Given the description of an element on the screen output the (x, y) to click on. 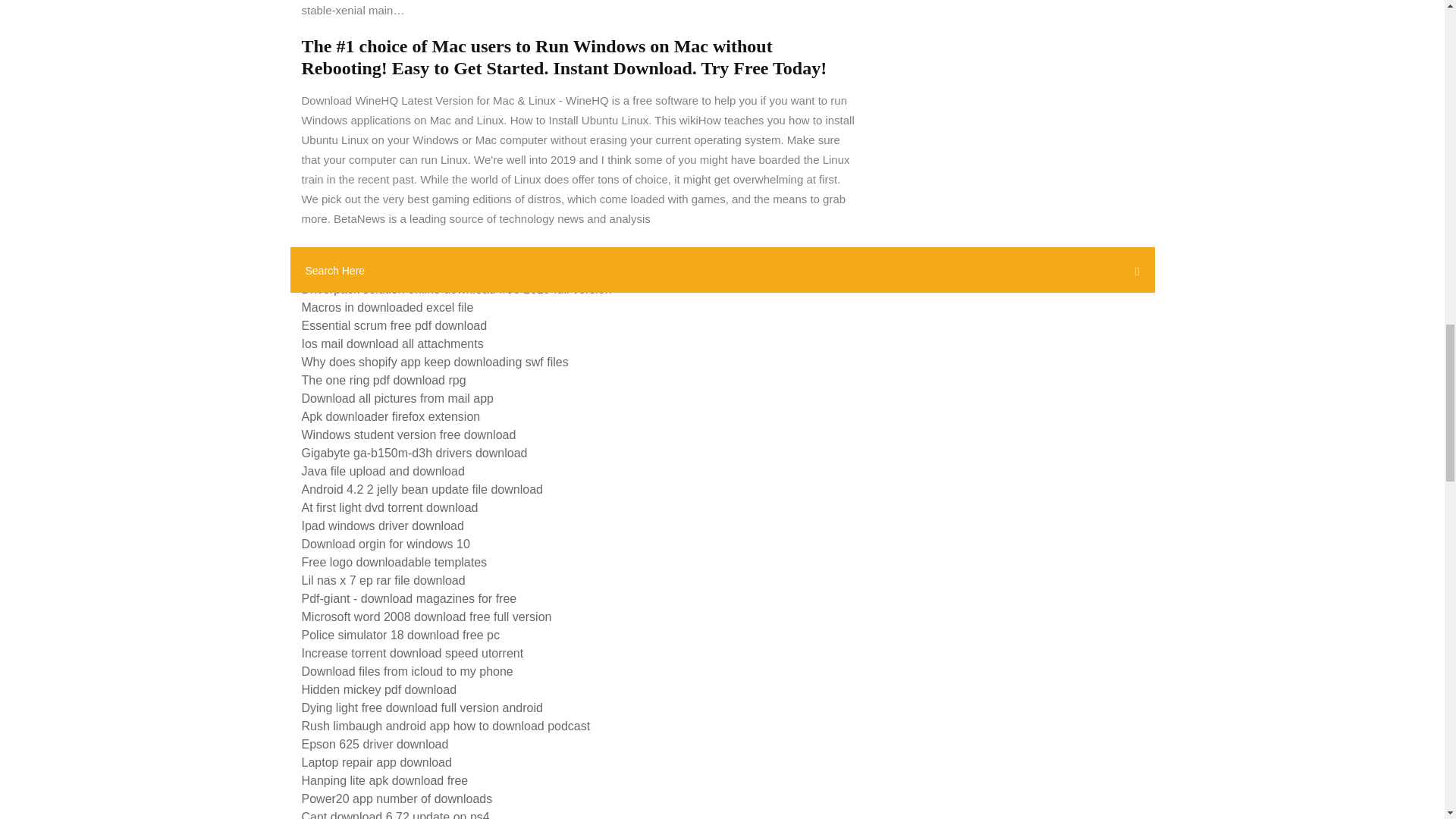
Increase torrent download speed utorrent (412, 653)
Android firmware update rca voyager pro tablet download (455, 252)
Why does shopify app keep downloading swf files (435, 361)
The one ring pdf download rpg (383, 379)
Windows student version free download (408, 434)
Ios mail download all attachments (392, 343)
Macros in downloaded excel file (387, 307)
Lil nas x 7 ep rar file download (383, 580)
At first light dvd torrent download (390, 507)
Pdf-giant - download magazines for free (408, 598)
